Given the description of an element on the screen output the (x, y) to click on. 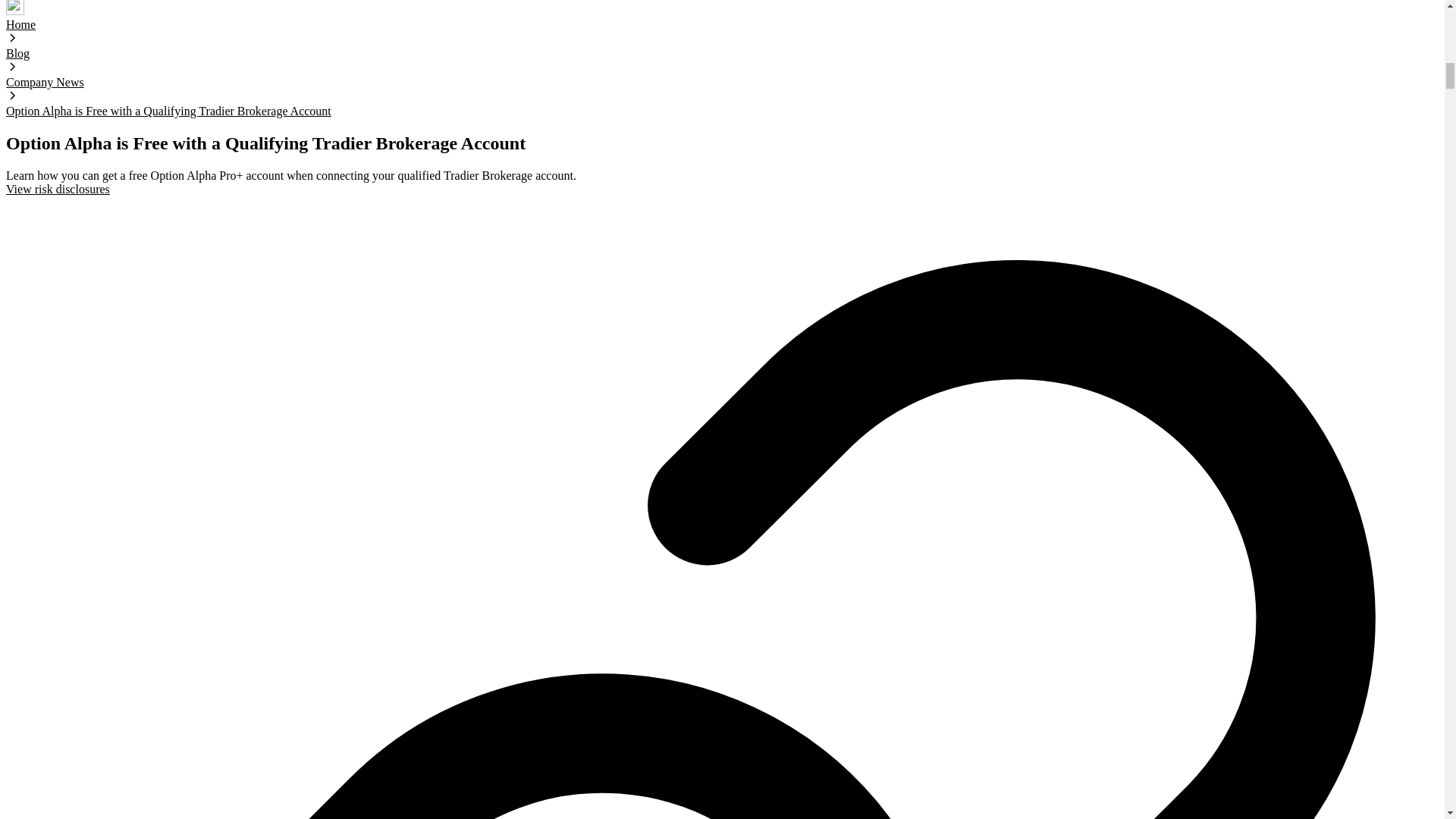
Blog (17, 52)
Company News (44, 82)
View risk disclosures (57, 188)
Home (19, 24)
